Given the description of an element on the screen output the (x, y) to click on. 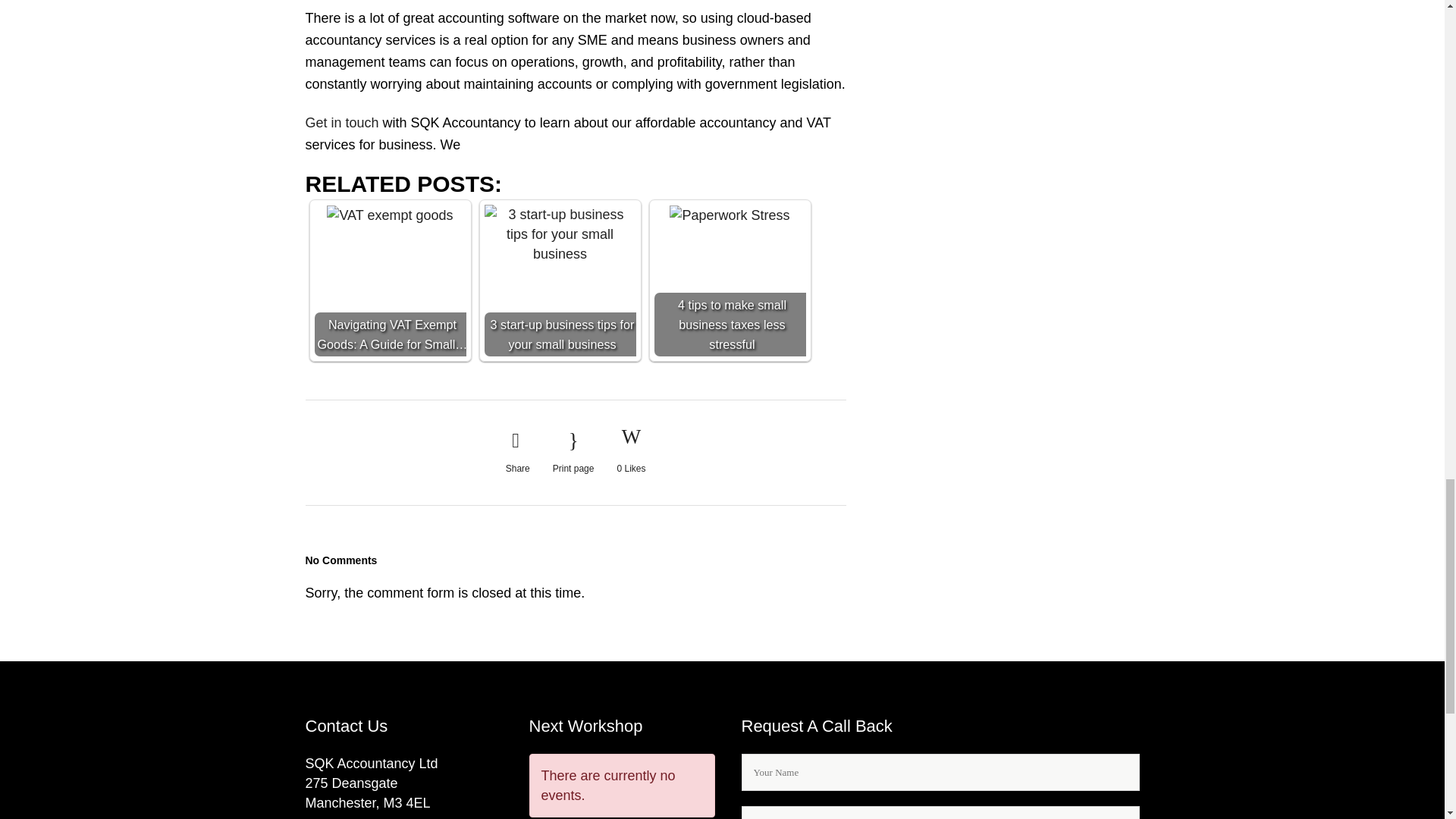
3 start-up business tips for your small business (558, 280)
Get in touch (341, 122)
4 tips to make small business taxes less stressful (729, 280)
